Given the description of an element on the screen output the (x, y) to click on. 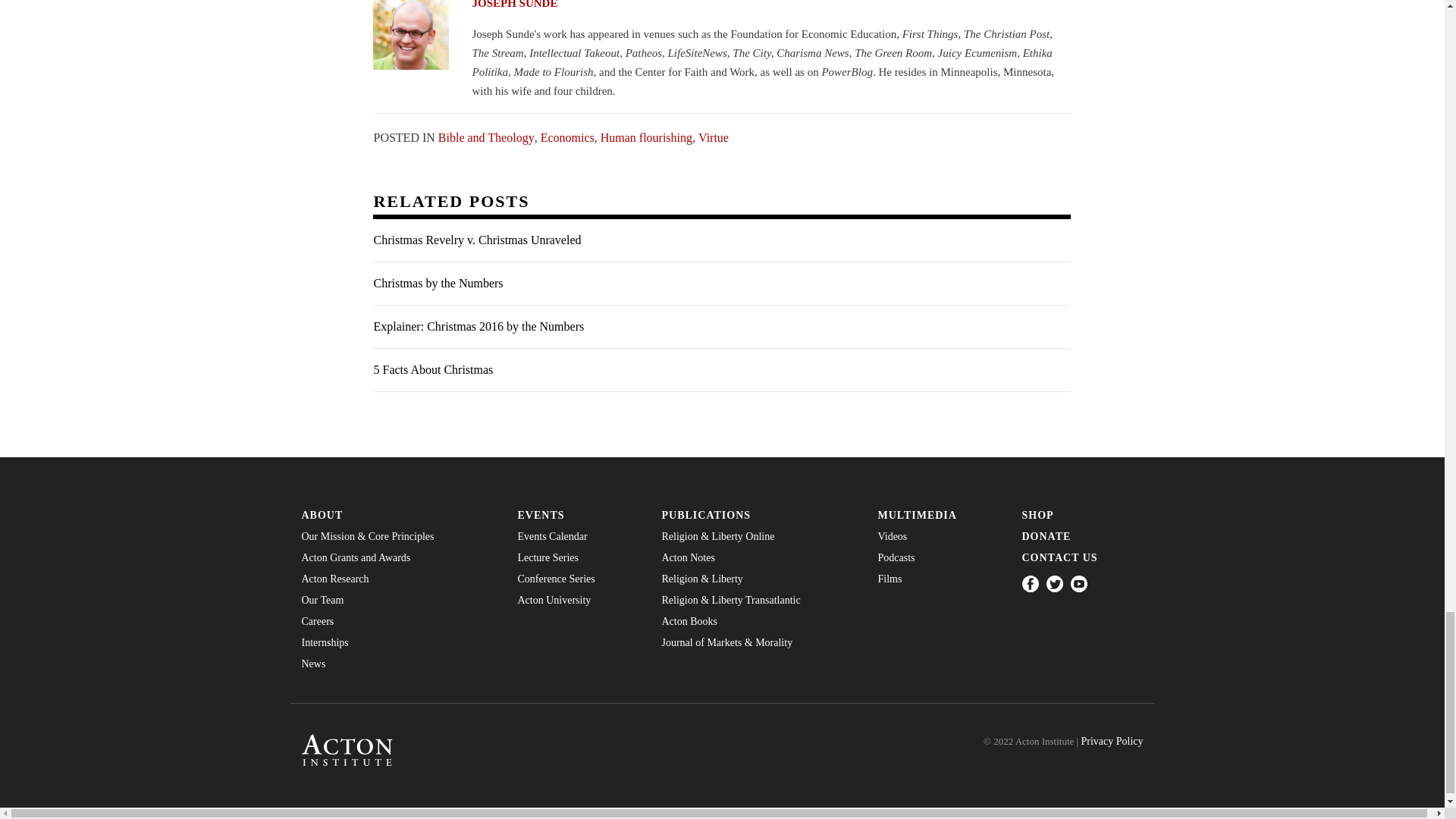
Acton Grants and Awards (398, 557)
Explainer: Christmas 2016 by the Numbers (721, 326)
Human flourishing (646, 136)
Acton Research (398, 579)
5 Facts About Christmas (721, 370)
ABOUT (398, 515)
Our Team (398, 600)
Explainer: Christmas 2016 by the Numbers (721, 326)
Bible and Theology (486, 136)
JOSEPH SUNDE (721, 6)
Christmas by the Numbers (721, 283)
5 Facts About Christmas (721, 370)
Christmas Revelry v. Christmas Unraveled (721, 240)
Christmas Revelry v. Christmas Unraveled (721, 240)
Economics (567, 136)
